Given the description of an element on the screen output the (x, y) to click on. 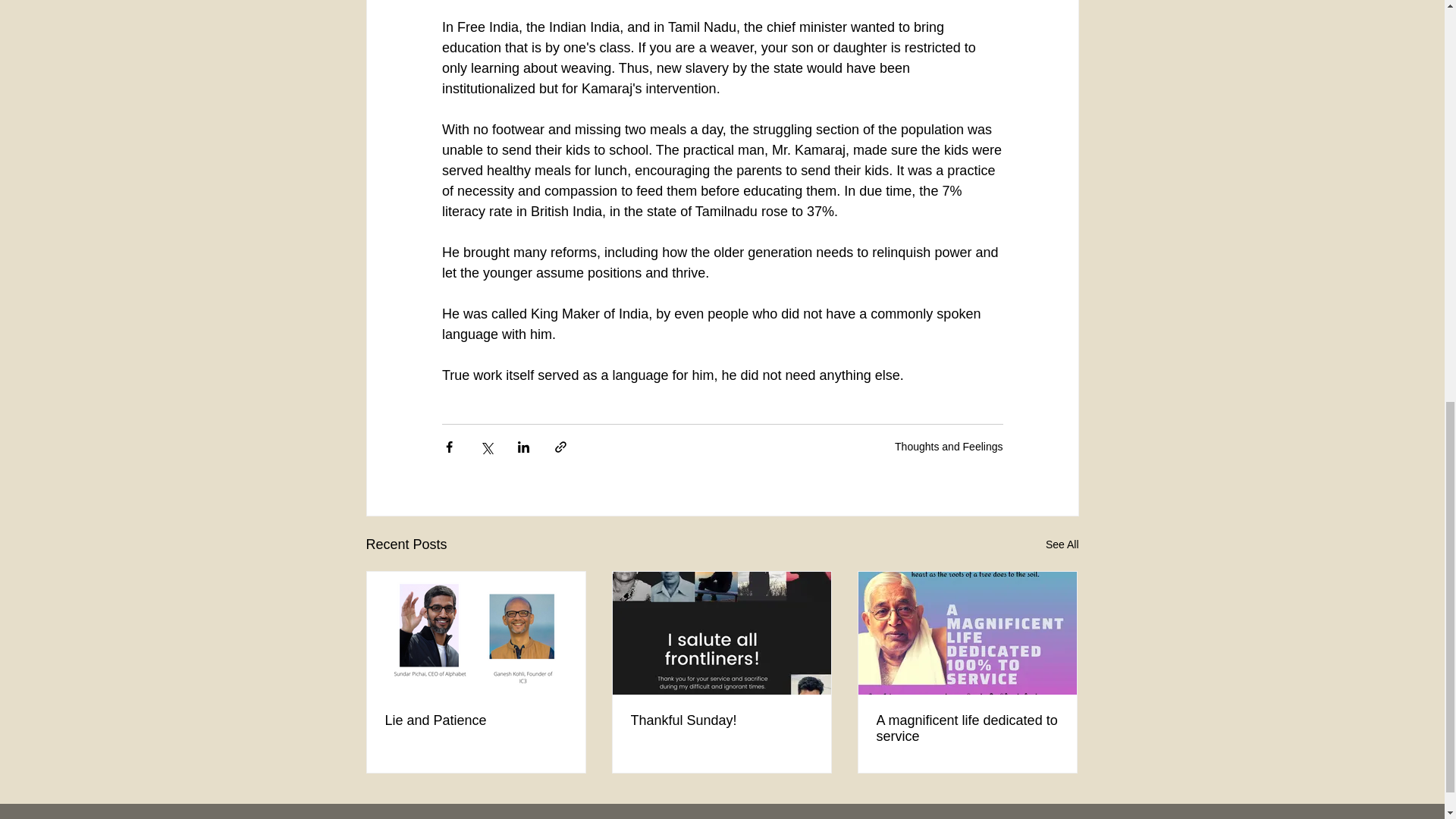
Thoughts and Feelings (949, 446)
A magnificent life dedicated to service (967, 728)
See All (1061, 544)
Lie and Patience (476, 720)
Thankful Sunday! (721, 720)
